Given the description of an element on the screen output the (x, y) to click on. 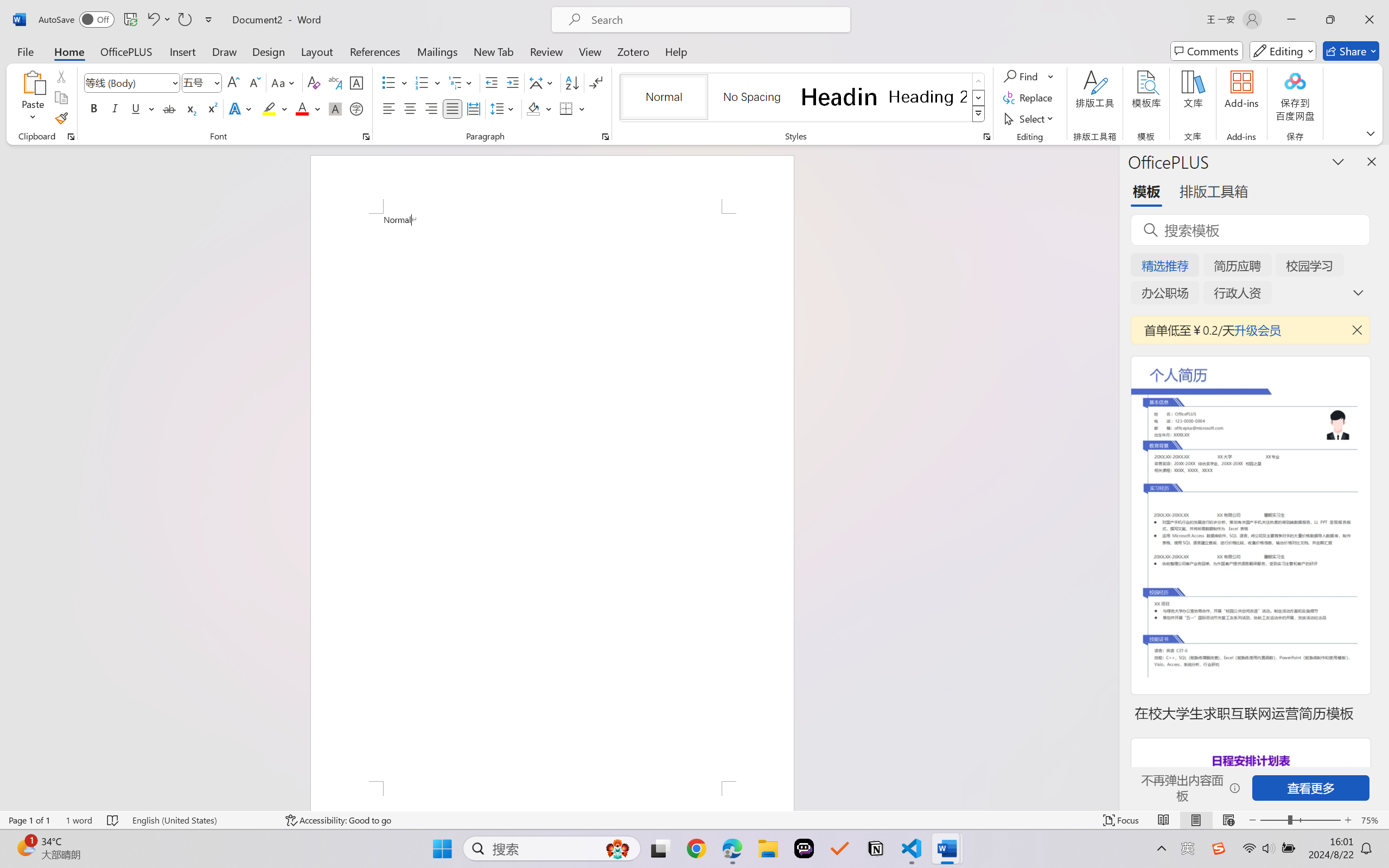
AutomationID: QuickStylesGallery (802, 97)
AutoSave (76, 19)
Customize Quick Access Toolbar (208, 19)
Text Highlight Color Yellow (269, 108)
Phonetic Guide... (334, 82)
Increase Indent (512, 82)
Microsoft search (715, 19)
Insert (182, 51)
Numbering (421, 82)
Justify (452, 108)
Help (675, 51)
Close (1369, 19)
Zoom Out (1273, 819)
Mode (1283, 50)
